Given the description of an element on the screen output the (x, y) to click on. 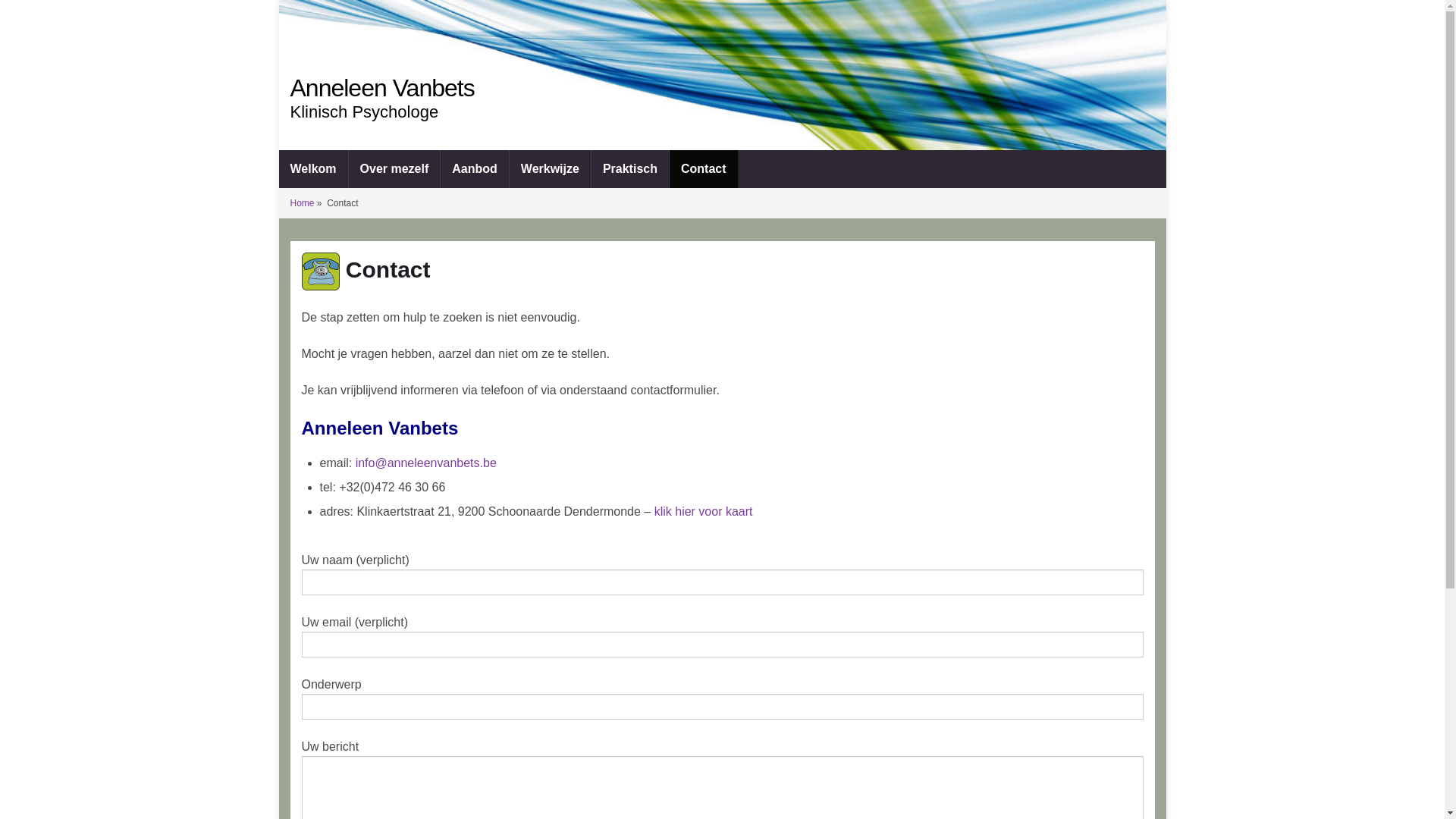
Over mezelf Element type: text (394, 169)
Welkom Element type: text (313, 169)
Praktisch Element type: text (629, 169)
Aanbod Element type: text (474, 169)
  Element type: text (722, 75)
Ga terug naar de startpagina Element type: hover (722, 75)
Home Element type: text (301, 202)
klik hier voor kaart Element type: text (703, 511)
info@anneleenvanbets.be Element type: text (425, 462)
Anneleen Vanbets Element type: text (381, 87)
Anneleen Vanbets Element type: hover (722, 91)
Werkwijze Element type: text (549, 169)
Contact Element type: text (703, 169)
